Given the description of an element on the screen output the (x, y) to click on. 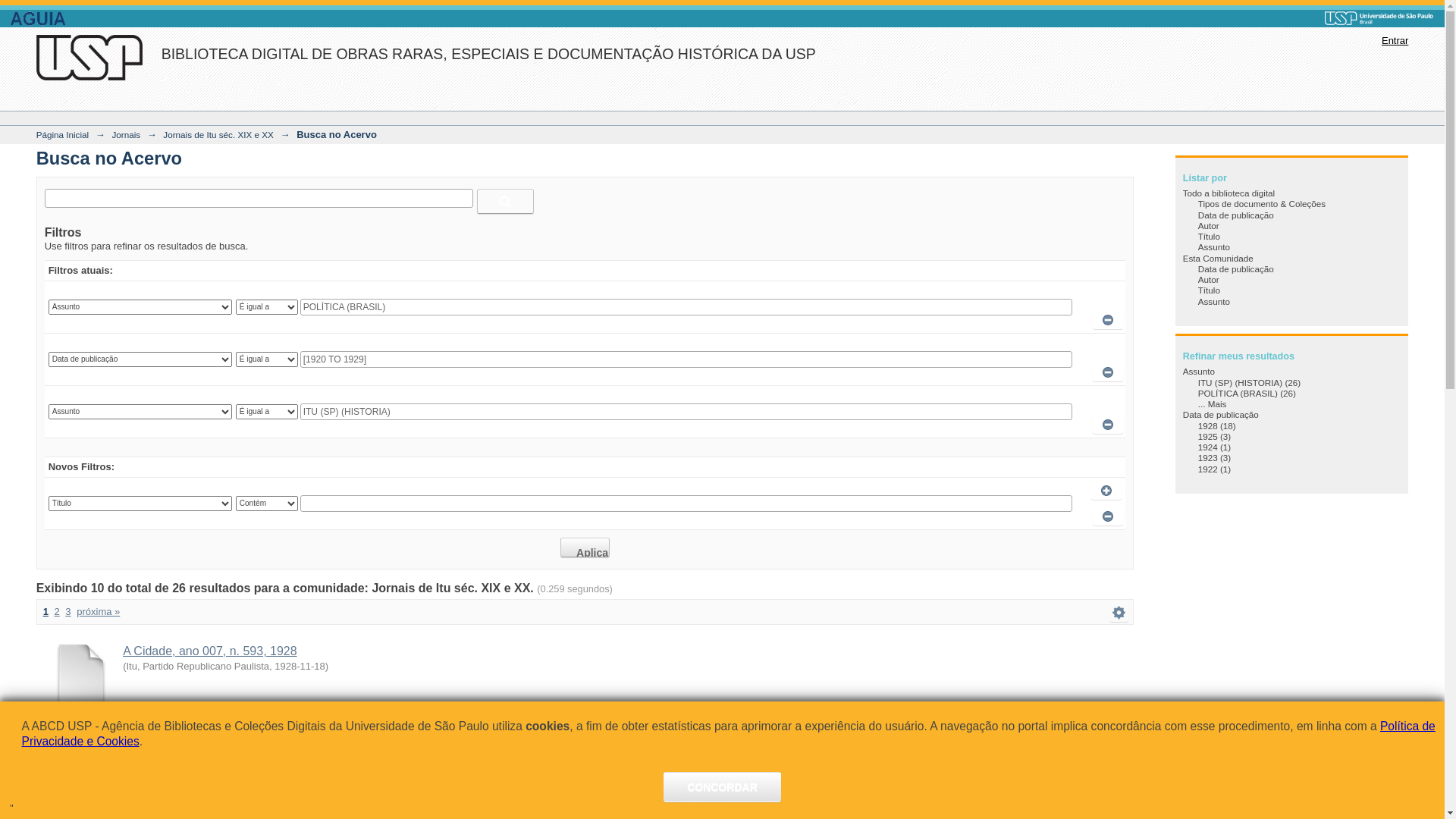
2 Element type: text (56, 611)
Adicionar Filtro Element type: text (1106, 346)
Remover Element type: text (1107, 516)
1928 (18) Element type: text (1217, 425)
1923 (3) Element type: text (1214, 457)
Assunto Element type: text (1214, 246)
Jornais Element type: text (125, 134)
Remover Element type: text (1107, 319)
Adicionar Filtro Element type: text (1106, 294)
  Element type: text (1118, 611)
Entrar Element type: text (1394, 40)
CONCORDAR Element type: text (722, 786)
CONCORDAR Element type: text (722, 786)
Buscar Element type: text (504, 200)
Aplicar Element type: text (584, 547)
Autor Element type: text (1208, 279)
A Cidade, ano 007, n. 593, 1928 Element type: text (209, 650)
A Cidade, ano 007, n. 592, 1928 Element type: text (209, 738)
1922 (1) Element type: text (1214, 468)
1924 (1) Element type: text (1214, 446)
Autor Element type: text (1208, 225)
Adicionar Filtro Element type: text (1106, 490)
Assunto Element type: text (1214, 301)
1 Element type: text (45, 611)
... Mais Element type: text (1212, 403)
Adicionar Filtro Element type: text (1106, 398)
3 Element type: text (67, 611)
1925 (3) Element type: text (1214, 436)
Remover Element type: text (1107, 372)
Remover Element type: text (1107, 424)
